Given the description of an element on the screen output the (x, y) to click on. 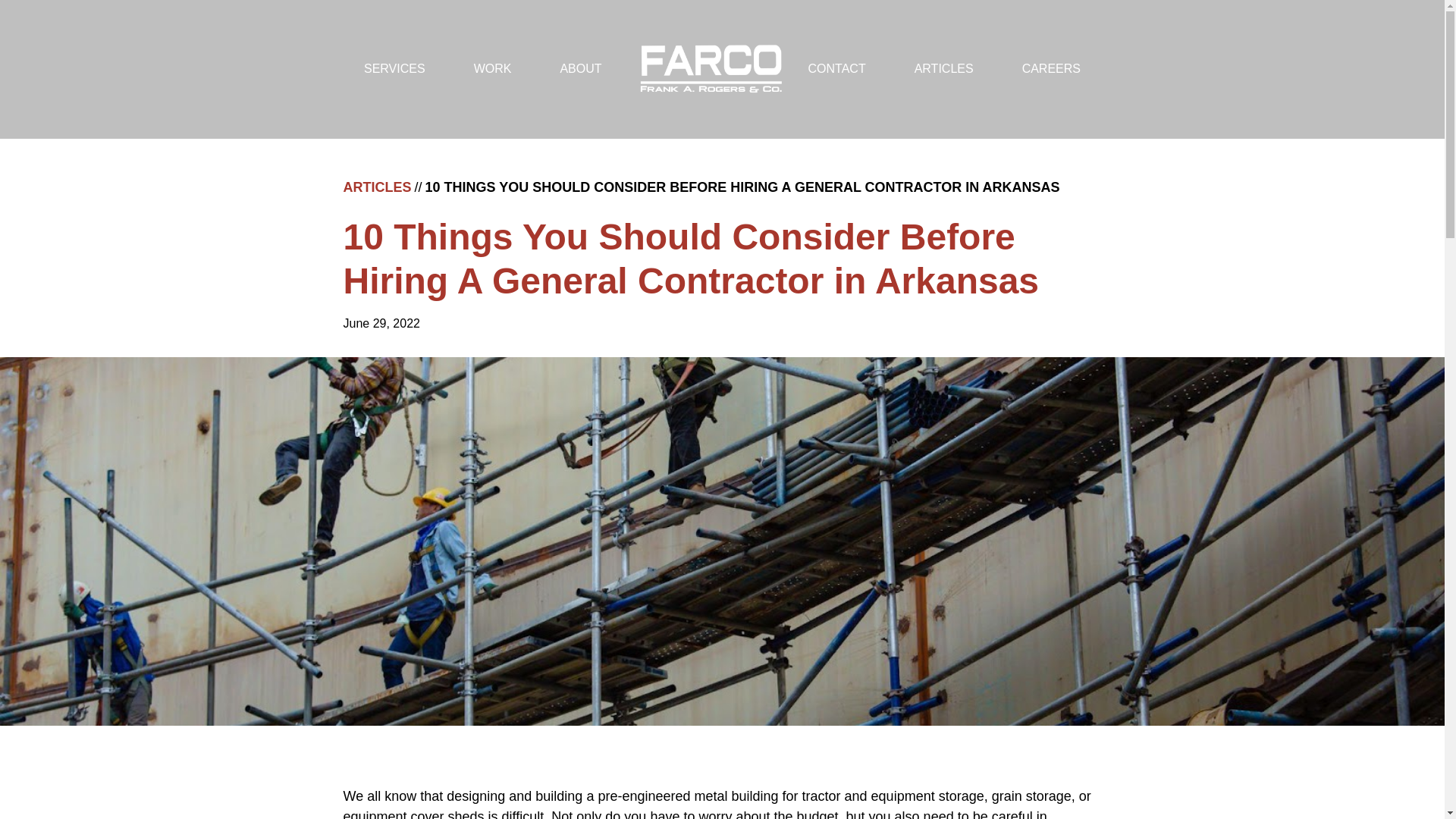
CONTACT (836, 69)
ABOUT (579, 69)
CAREERS (1051, 69)
SERVICES (395, 69)
ARTICLES (376, 187)
ARTICLES (943, 69)
WORK (492, 69)
